Given the description of an element on the screen output the (x, y) to click on. 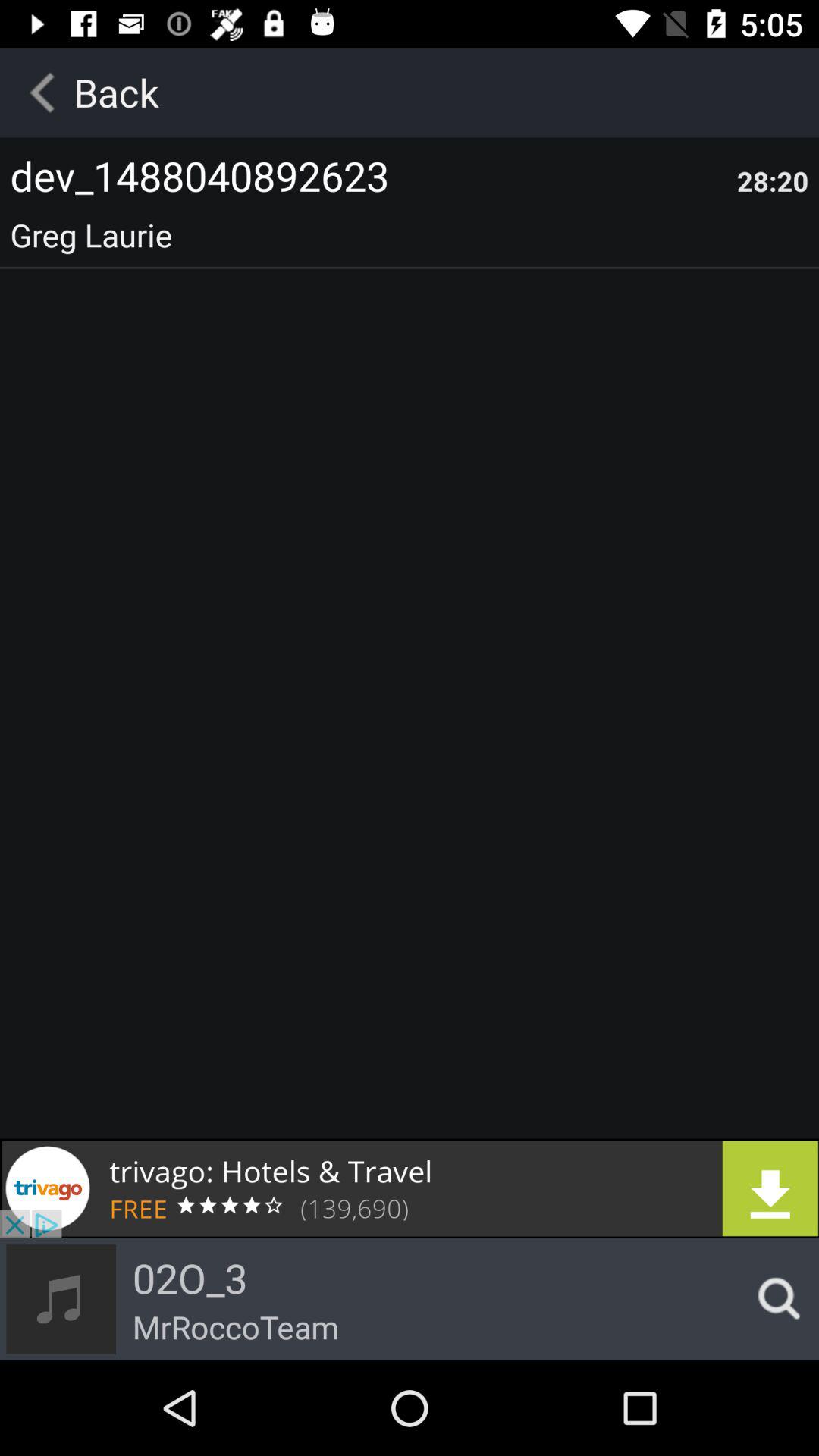
trivago travel link option (409, 1188)
